Given the description of an element on the screen output the (x, y) to click on. 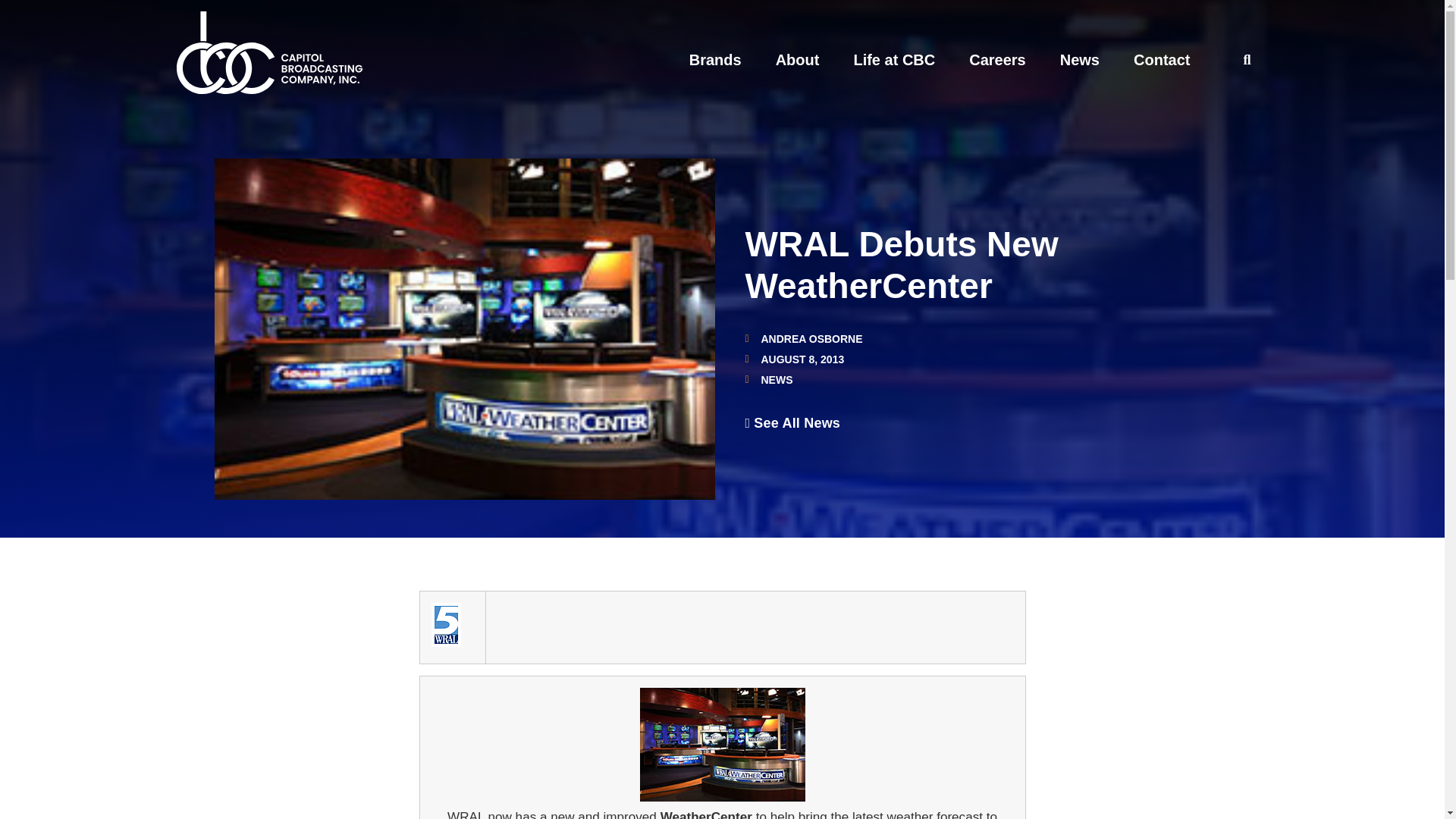
Brands (714, 59)
ANDREA OSBORNE (802, 338)
Contact (1161, 59)
AUGUST 8, 2013 (794, 358)
News (1079, 59)
See All News (792, 422)
Life at CBC (893, 59)
NEWS (777, 379)
Careers (997, 59)
About (797, 59)
